Given the description of an element on the screen output the (x, y) to click on. 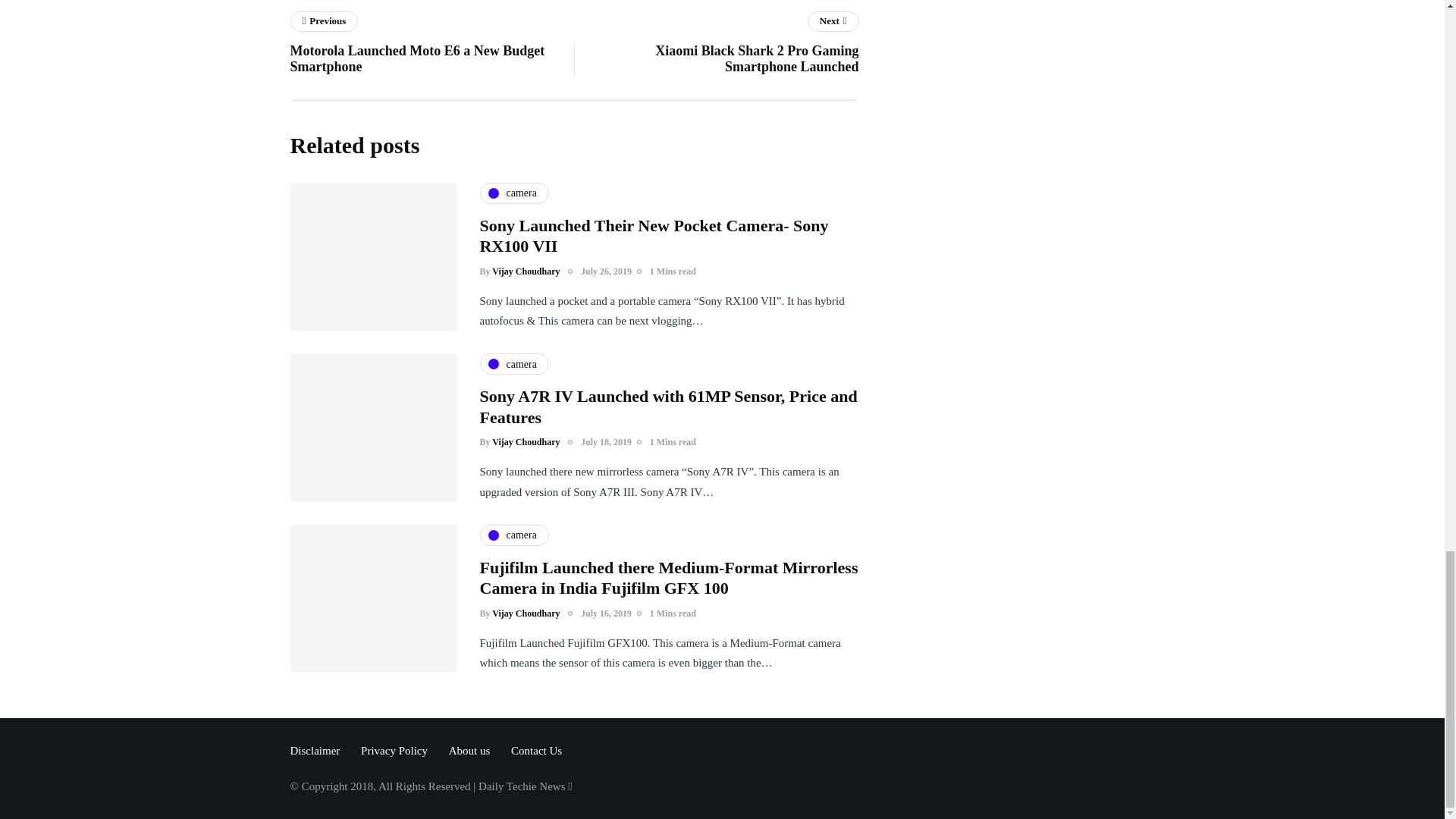
Vijay Choudhary (525, 271)
Posts by Vijay Choudhary (525, 613)
camera (431, 45)
camera (513, 363)
Posts by Vijay Choudhary (513, 192)
Posts by Vijay Choudhary (717, 45)
Sony Launched Their New Pocket Camera- Sony RX100 VII (525, 441)
